Given the description of an element on the screen output the (x, y) to click on. 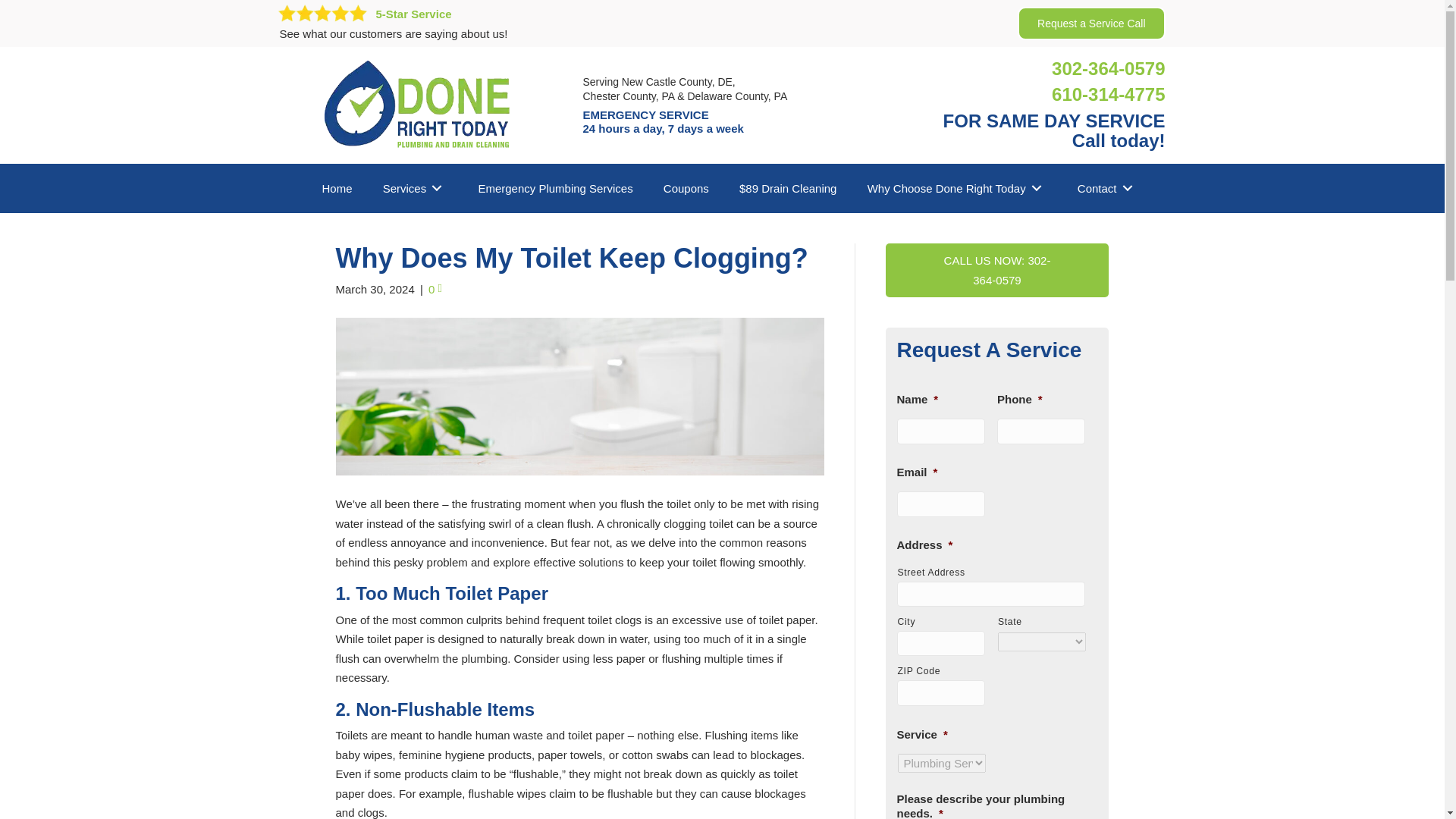
done-right-today-logo-2022 (418, 104)
Coupons (686, 188)
Why Choose Done Right Today (957, 188)
Request a Service Call (1090, 23)
610-314-4775 (494, 22)
Home (1107, 94)
302-364-0579 (336, 188)
Emergency Plumbing Services (1107, 68)
302-364-0579 (555, 188)
Contact (1107, 68)
610-314-4775 (1107, 188)
Services (1107, 94)
